Given the description of an element on the screen output the (x, y) to click on. 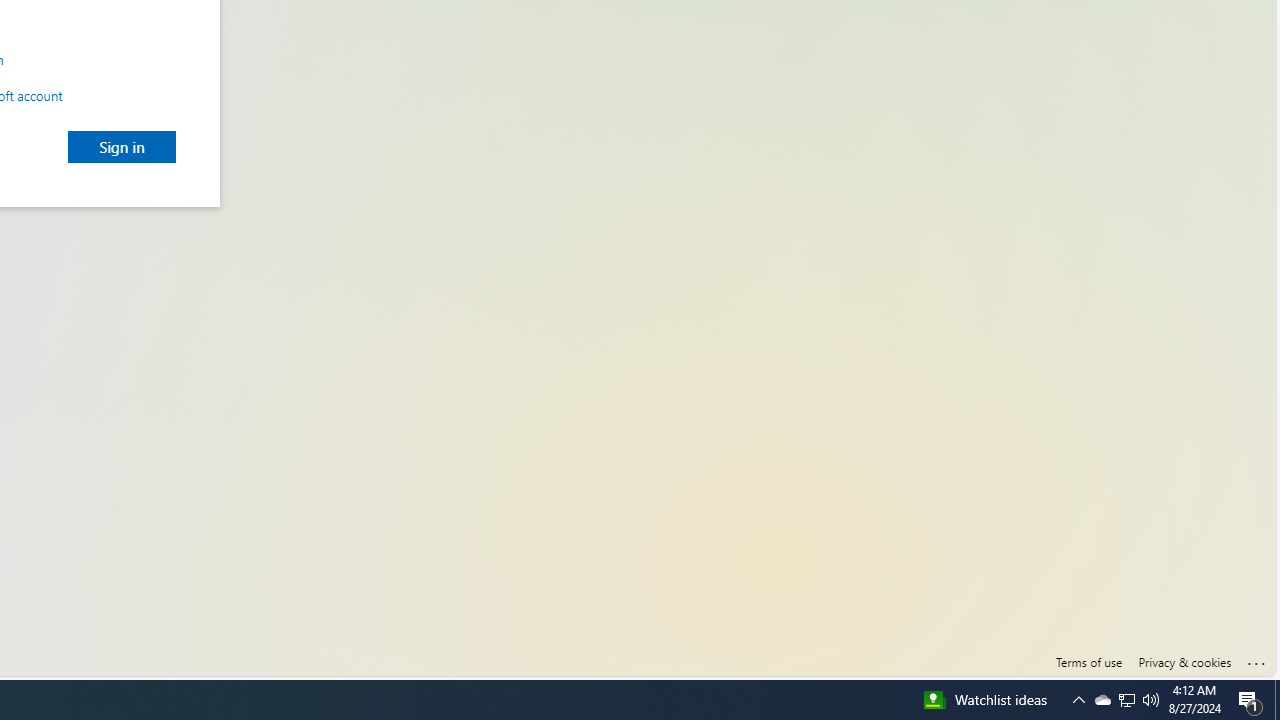
Terms of use (1088, 662)
Privacy & cookies (1184, 662)
Click here for troubleshooting information (1257, 659)
